Given the description of an element on the screen output the (x, y) to click on. 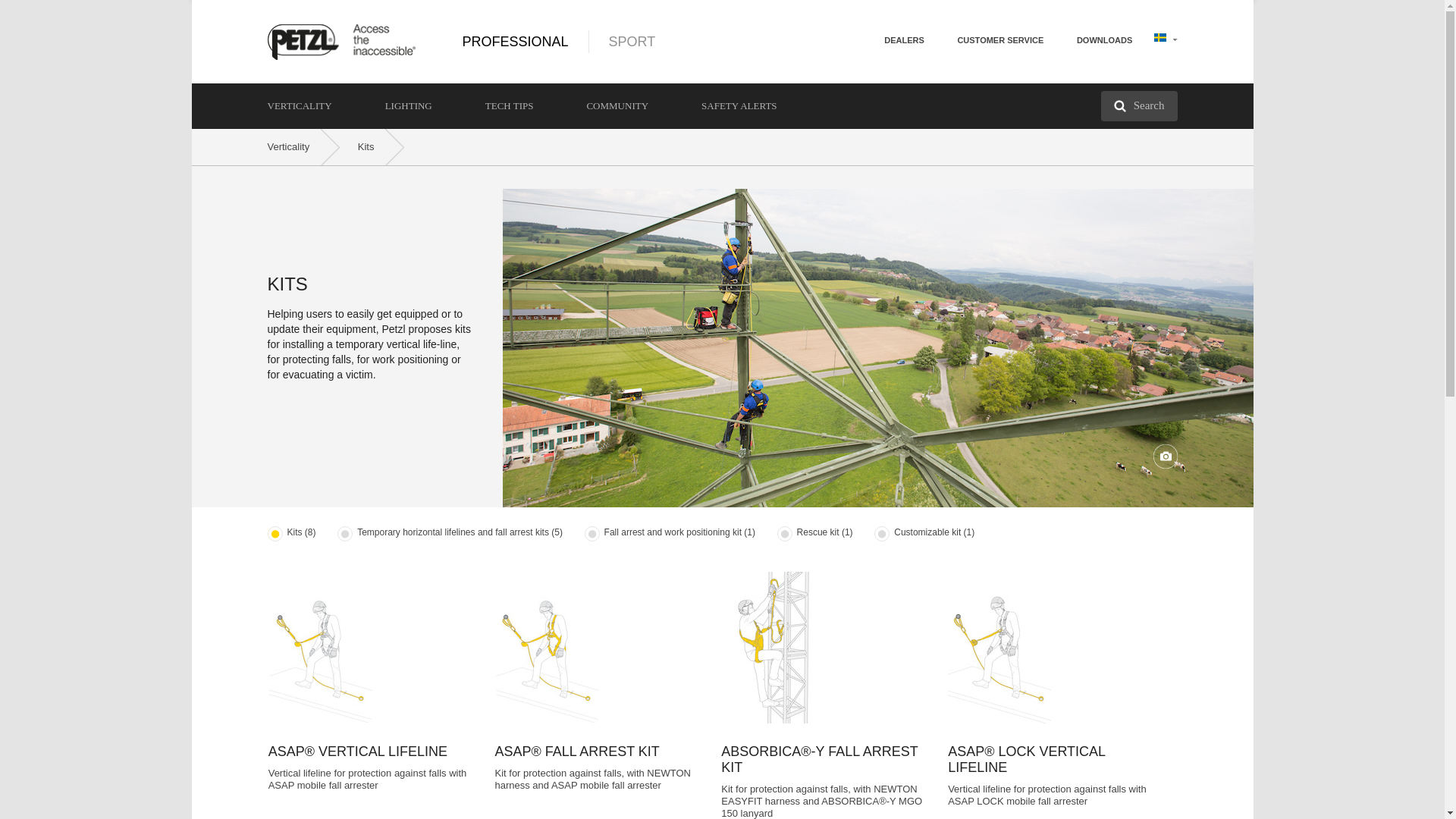
CUSTOMER SERVICE (999, 39)
PROFESSIONAL (516, 40)
DOWNLOADS (1104, 39)
DEALERS (903, 39)
SPORT (612, 41)
